Given the description of an element on the screen output the (x, y) to click on. 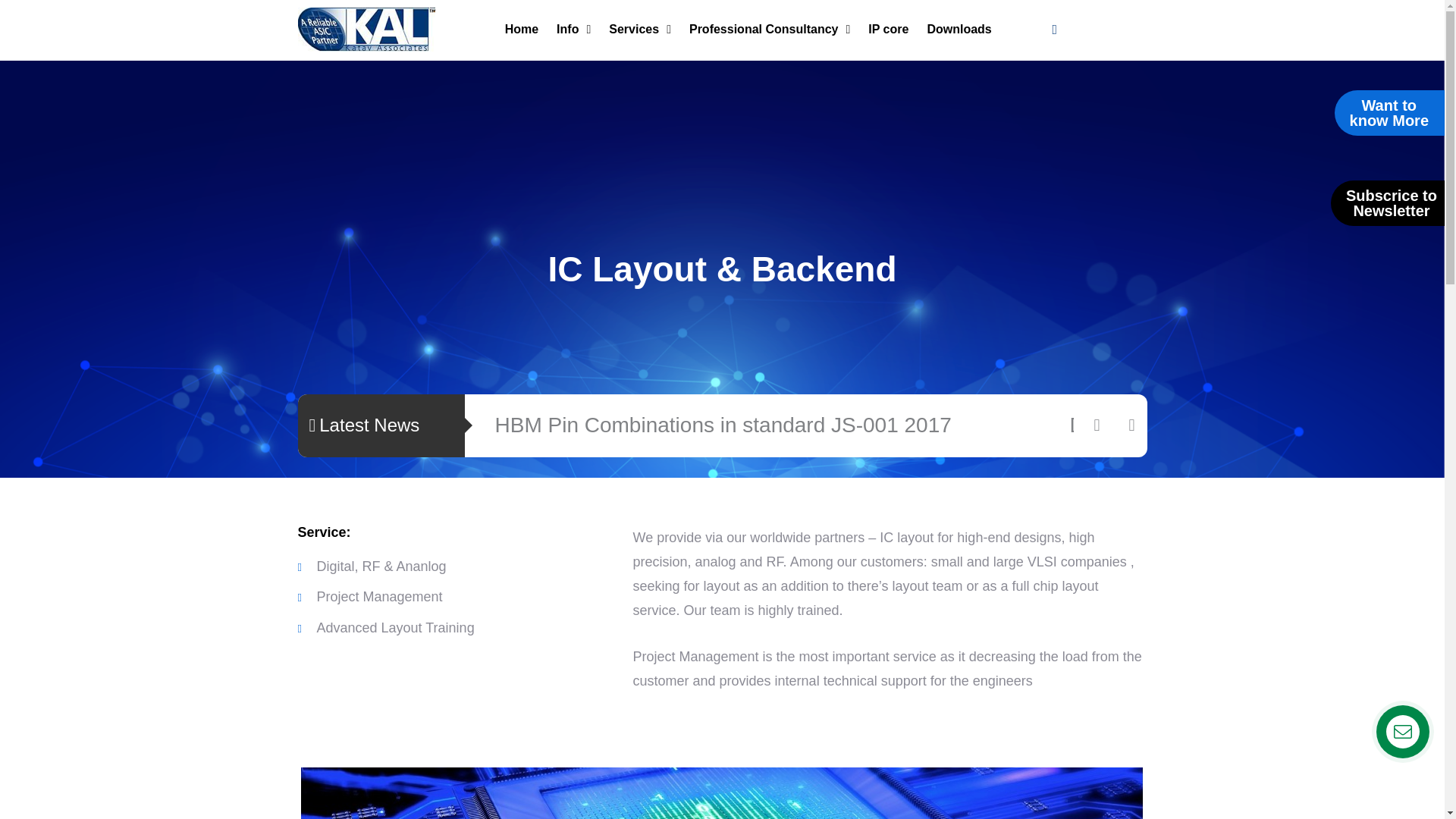
IP core (888, 29)
Info (573, 29)
Home (521, 29)
Services (640, 29)
Professional Consultancy (770, 29)
Downloads (958, 29)
